Given the description of an element on the screen output the (x, y) to click on. 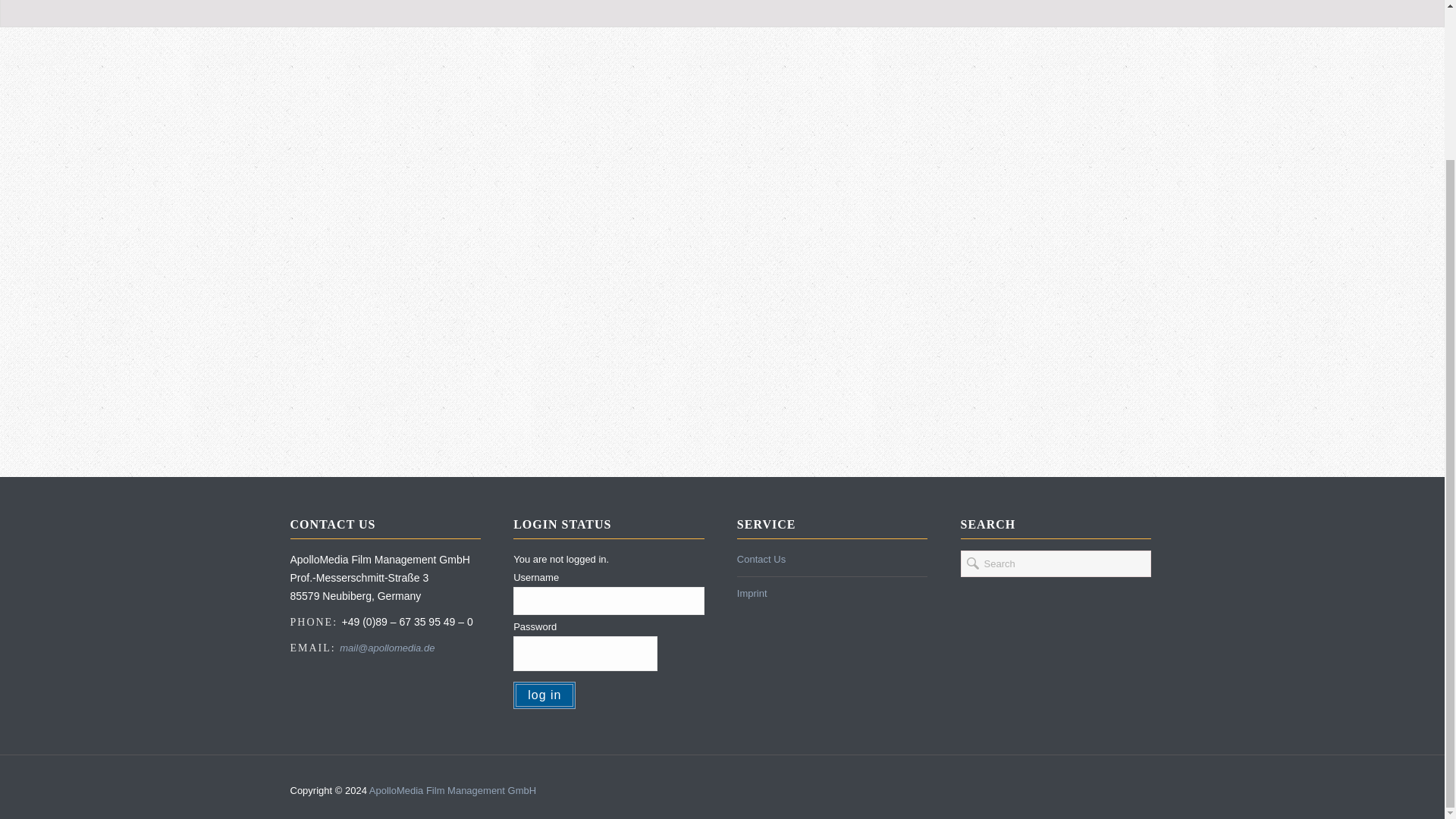
ApolloMedia Film Management GmbH (452, 790)
Log In (1015, 419)
log in (544, 695)
Contact Us (761, 559)
ApolloMedia Film Management GmbH (452, 790)
Imprint (751, 593)
log in (544, 695)
